Given the description of an element on the screen output the (x, y) to click on. 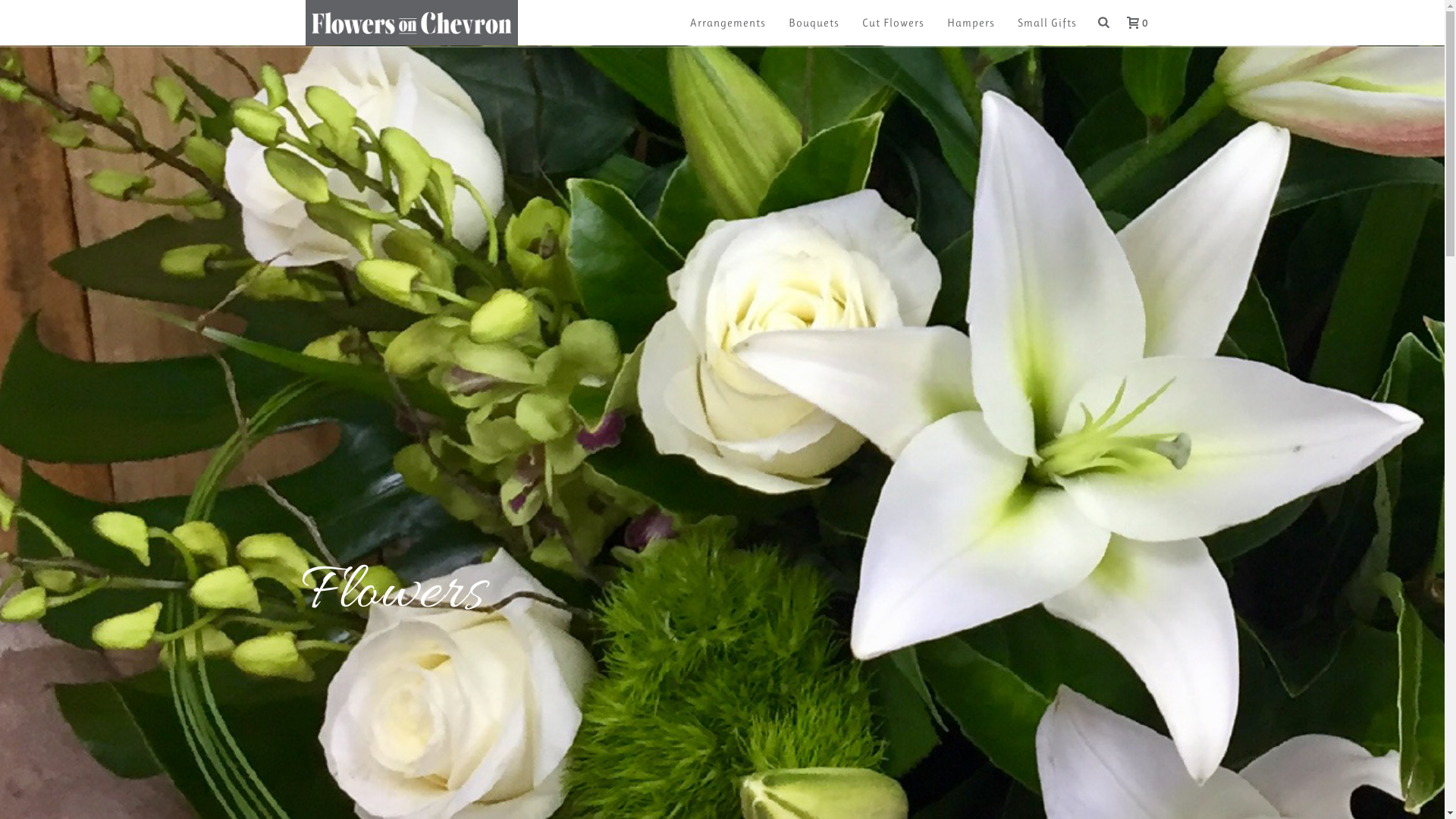
Small Gifts Element type: text (1047, 22)
0 Element type: text (1132, 22)
Bouquets Element type: text (813, 22)
Flowers on Chevron Island on the Gold Coast Element type: hover (410, 22)
Cut Flowers Element type: text (892, 22)
Arrangements Element type: text (727, 22)
Hampers Element type: text (970, 22)
